Given the description of an element on the screen output the (x, y) to click on. 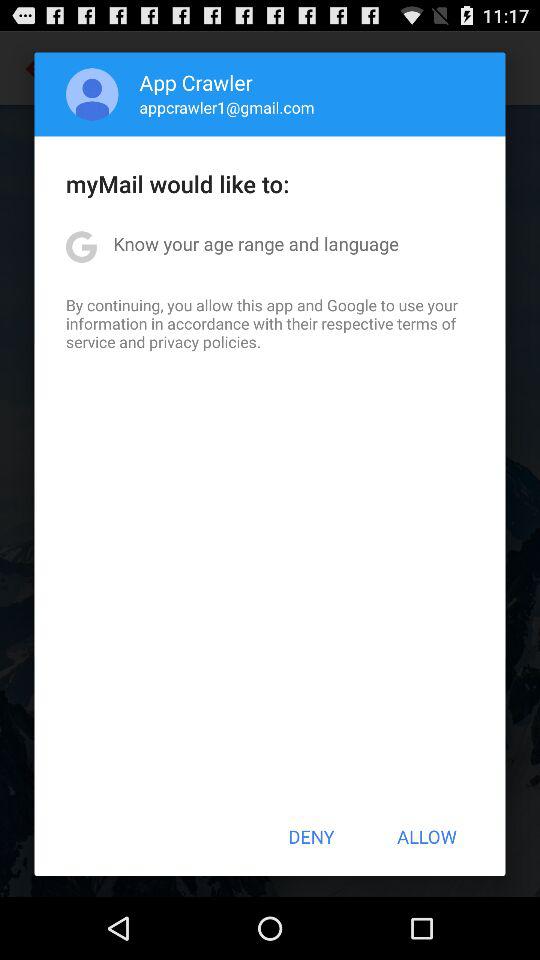
press icon above by continuing you app (255, 243)
